Given the description of an element on the screen output the (x, y) to click on. 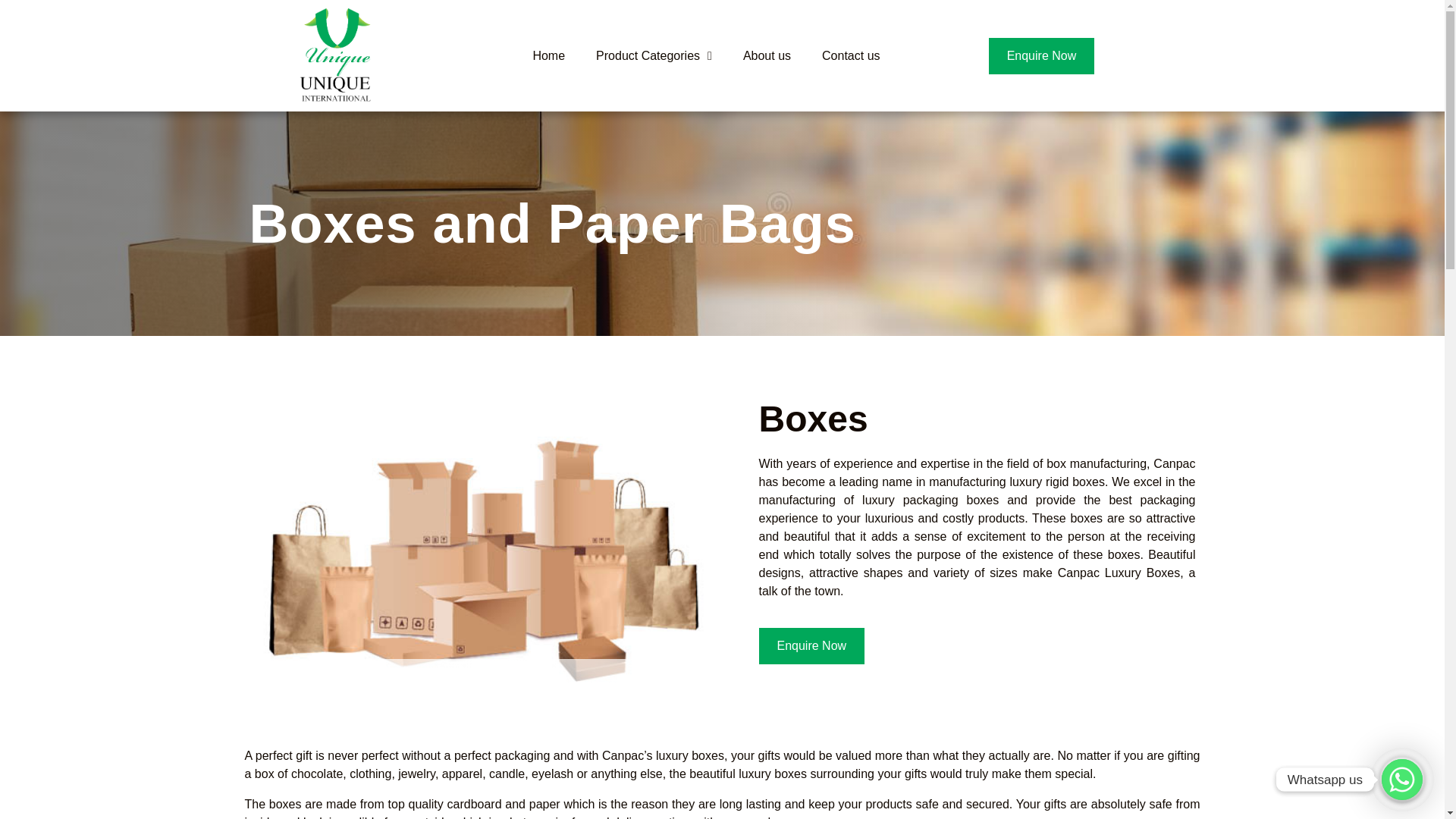
Enquire Now (1041, 55)
Home (547, 55)
About us (766, 55)
Product Categories (653, 55)
Enquire Now (811, 646)
Contact us (850, 55)
